Given the description of an element on the screen output the (x, y) to click on. 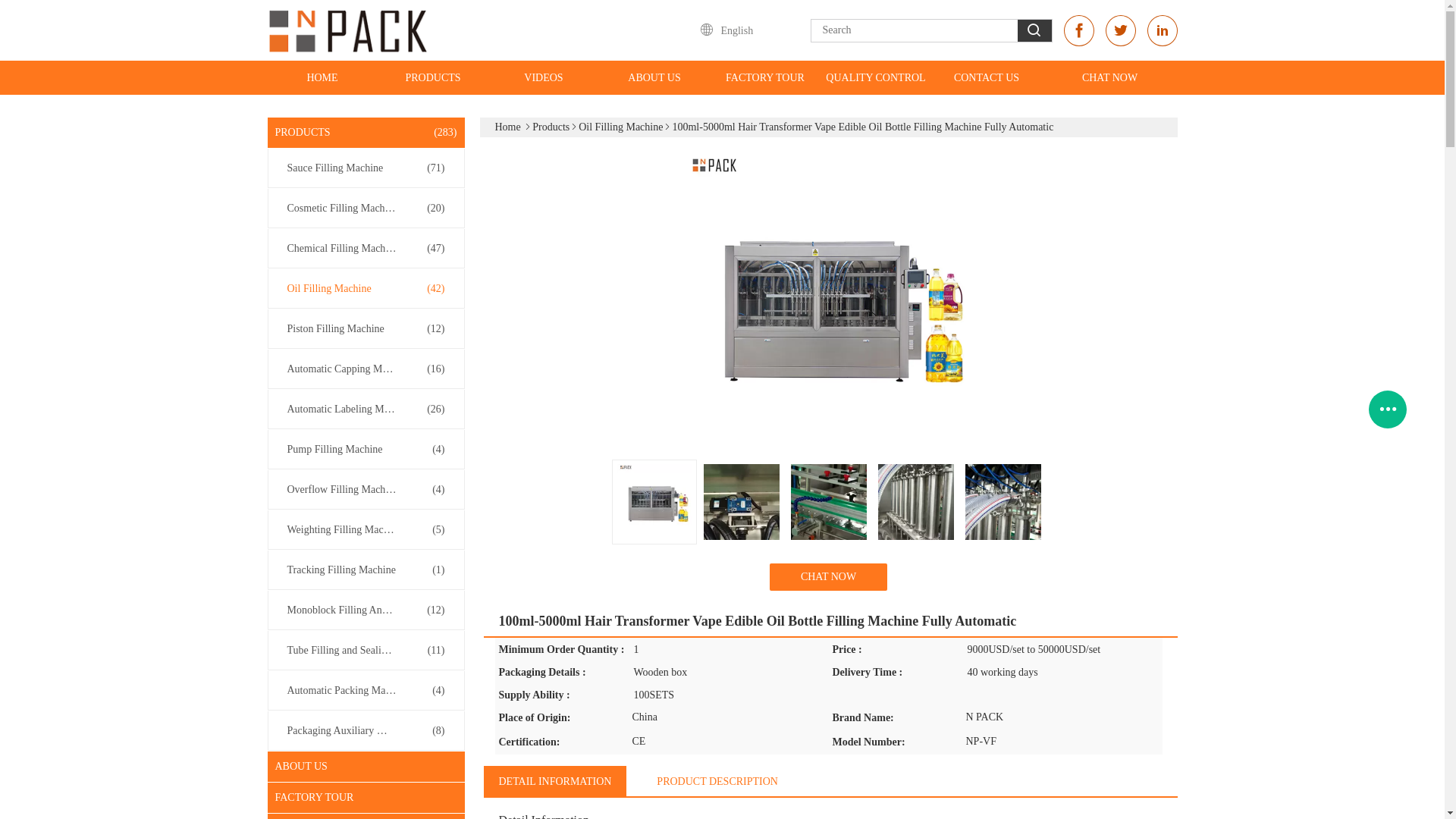
HOME (321, 77)
PRODUCTS (432, 77)
